Given the description of an element on the screen output the (x, y) to click on. 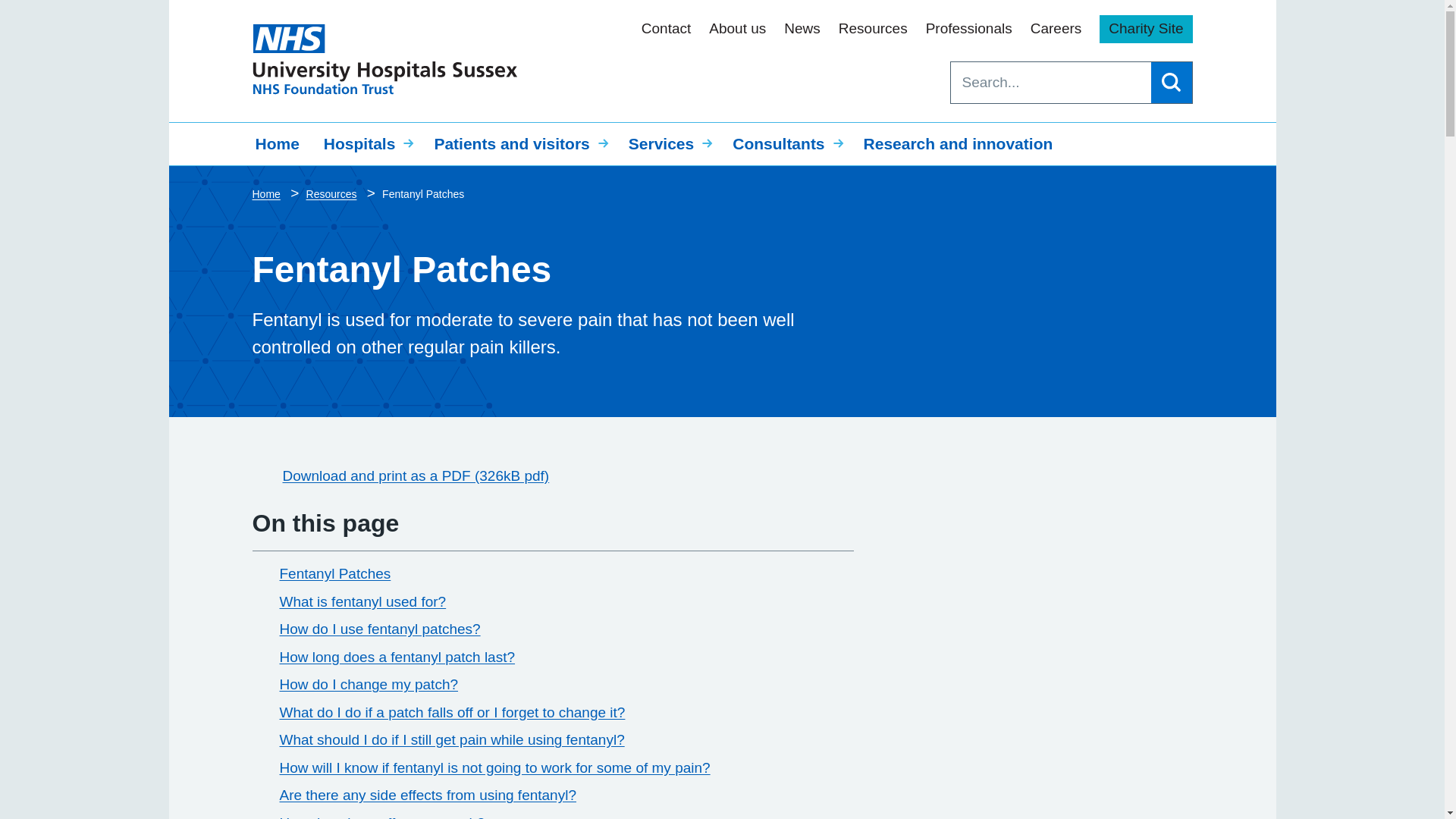
Charity Site (1145, 29)
Professionals (968, 29)
Careers (1055, 29)
Services (667, 144)
Resources (872, 29)
About us (737, 29)
Hospitals (366, 144)
Home (277, 144)
University Hospitals Sussex NHS Foundation Trust Homepage (383, 59)
News (802, 29)
